Given the description of an element on the screen output the (x, y) to click on. 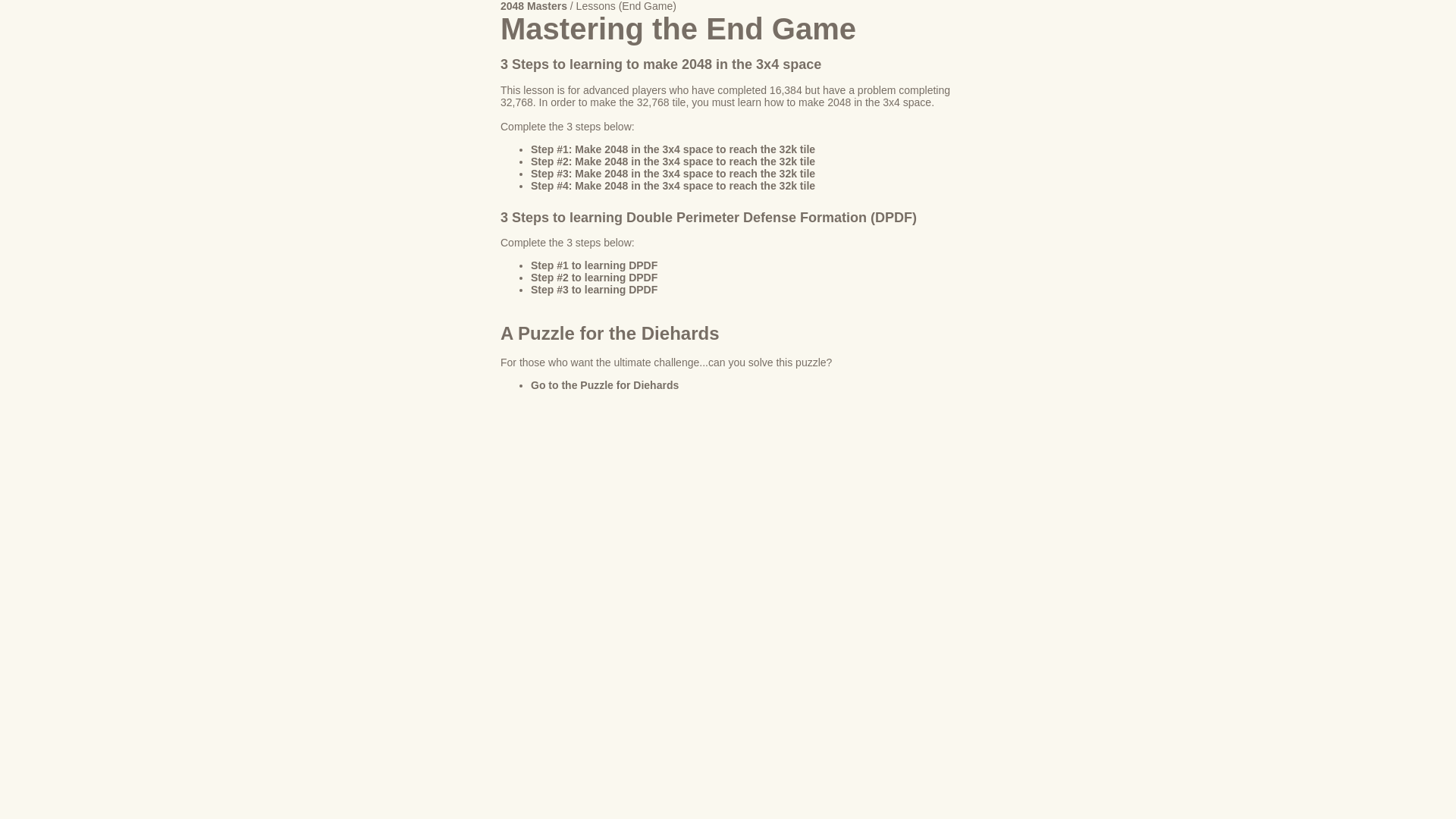
Step #1: Make 2048 in the 3x4 space to reach the 32k tile Element type: text (672, 149)
Step #4: Make 2048 in the 3x4 space to reach the 32k tile Element type: text (672, 185)
Step #2 to learning DPDF Element type: text (593, 277)
Step #2: Make 2048 in the 3x4 space to reach the 32k tile Element type: text (672, 161)
Step #3: Make 2048 in the 3x4 space to reach the 32k tile Element type: text (672, 173)
2048 Masters Element type: text (533, 6)
Step #3 to learning DPDF Element type: text (593, 289)
Go to the Puzzle for Diehards Element type: text (604, 385)
Step #1 to learning DPDF Element type: text (593, 265)
